Given the description of an element on the screen output the (x, y) to click on. 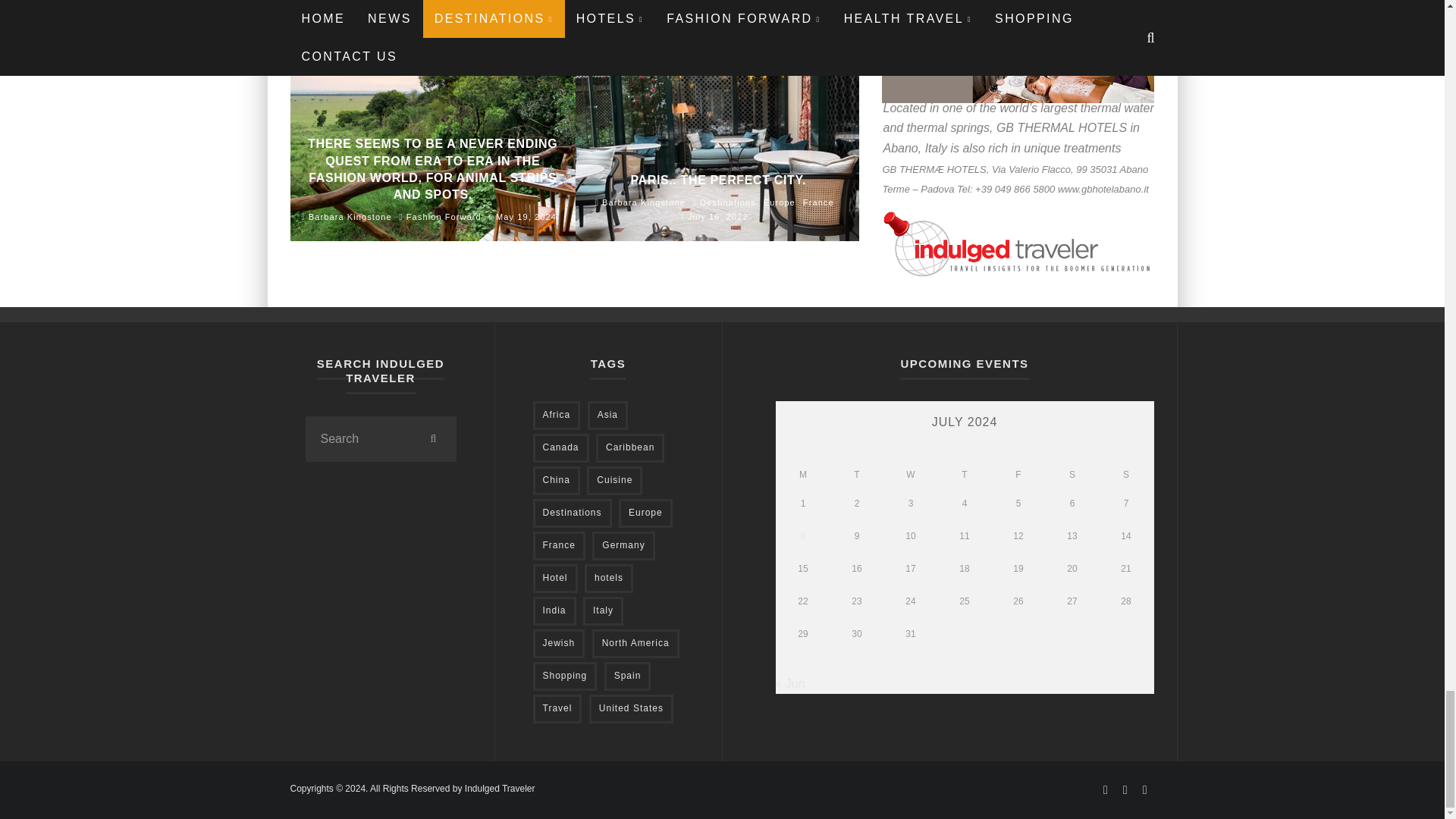
Wednesday (909, 474)
Friday (1017, 474)
Saturday (1072, 474)
Monday (802, 474)
Tuesday (857, 474)
Thursday (965, 474)
Sunday (1125, 474)
